Given the description of an element on the screen output the (x, y) to click on. 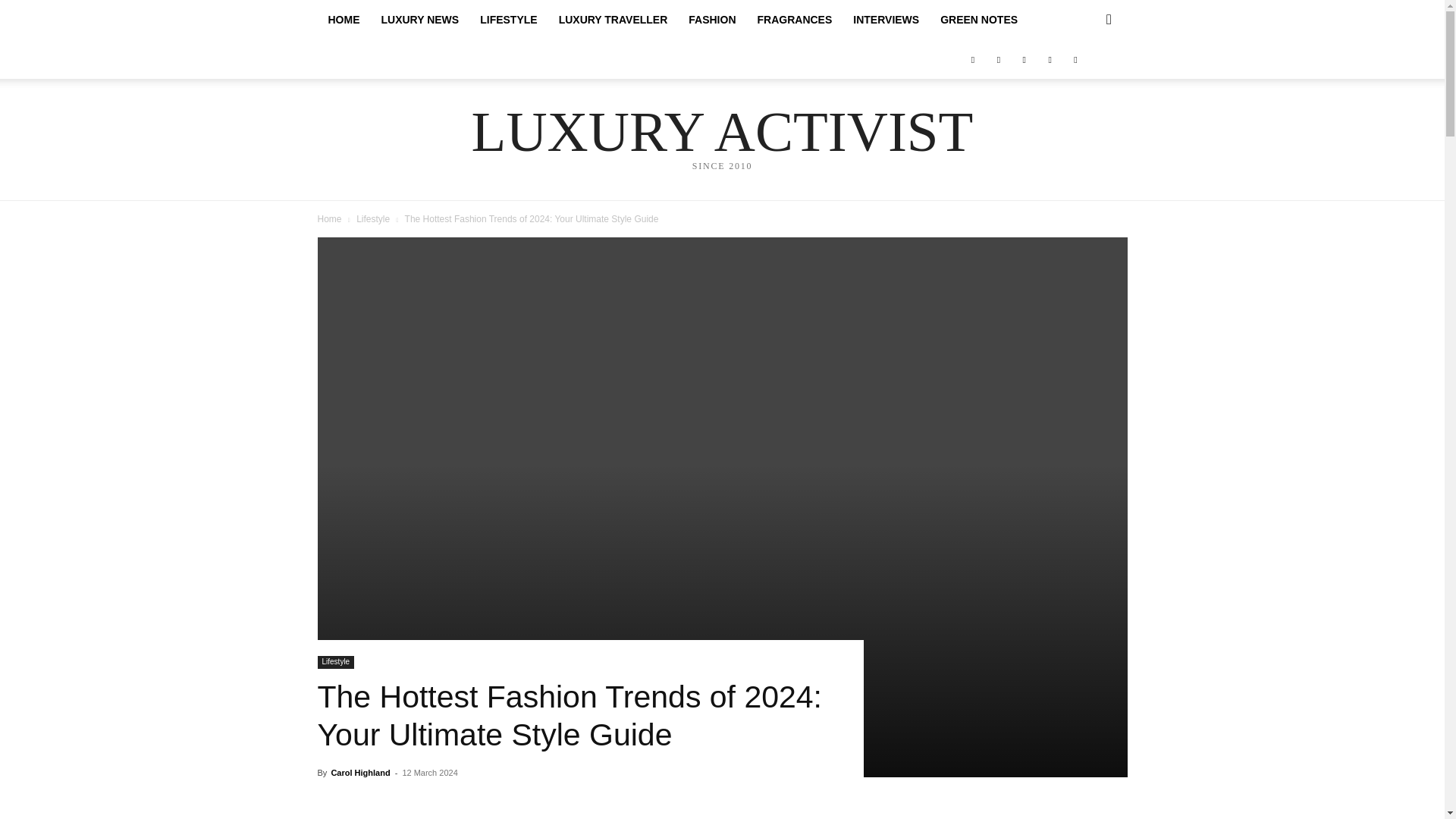
FASHION (711, 19)
FRAGRANCES (794, 19)
LUXURY TRAVELLER (613, 19)
GREEN NOTES (978, 19)
LIFESTYLE (507, 19)
Lifestyle (373, 218)
Home (328, 218)
View all posts in Lifestyle (373, 218)
Carol Highland (360, 772)
HOME (343, 19)
